Given the description of an element on the screen output the (x, y) to click on. 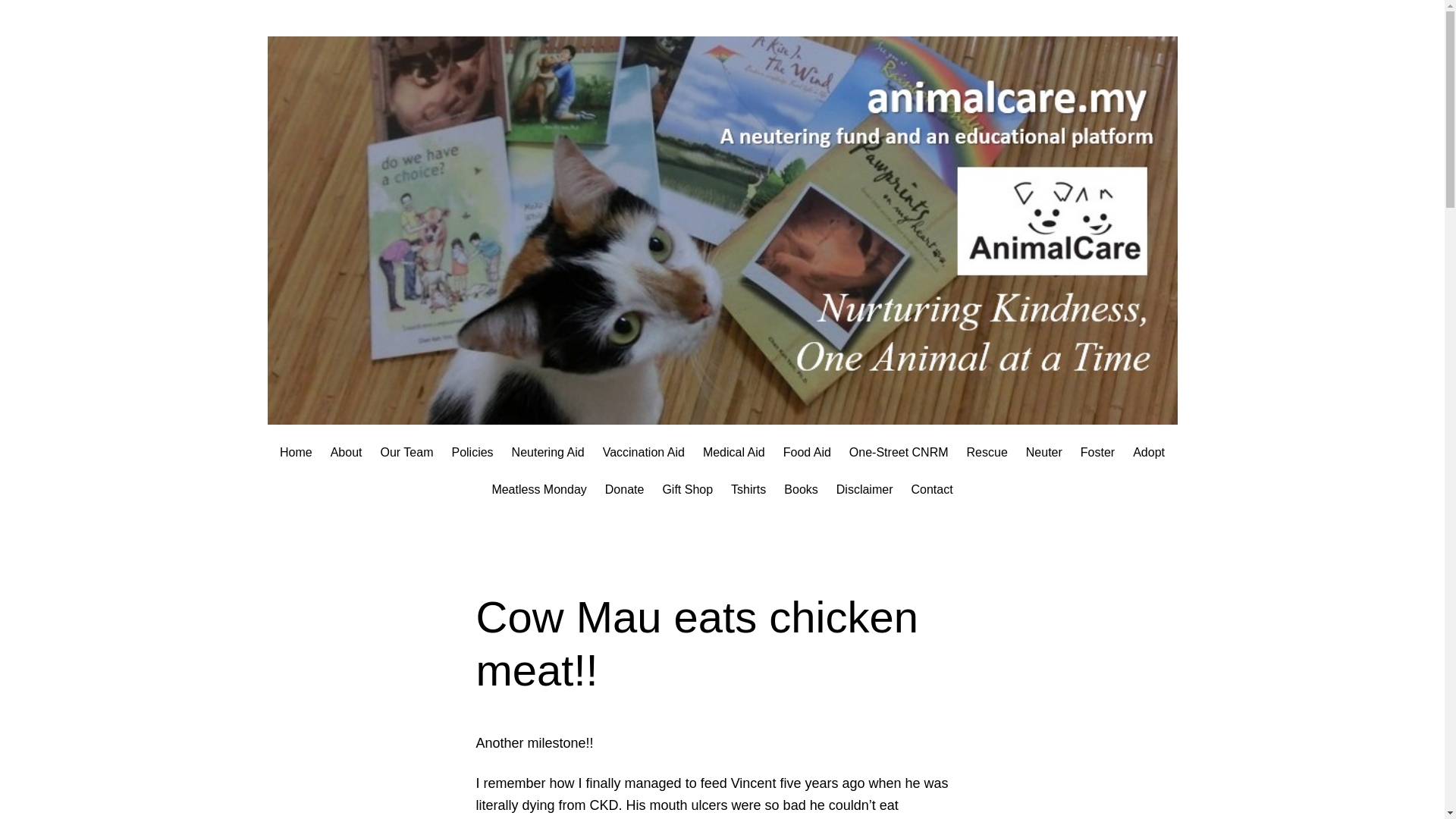
Tshirts (747, 489)
Neuter (1044, 452)
One-Street CNRM (898, 452)
Our Team (406, 452)
Adopt (1148, 452)
Medical Aid (734, 452)
Donate (625, 489)
About (346, 452)
Foster (1097, 452)
Neutering Aid (548, 452)
Policies (472, 452)
Vaccination Aid (643, 452)
Books (800, 489)
Home (296, 452)
Disclaimer (864, 489)
